Given the description of an element on the screen output the (x, y) to click on. 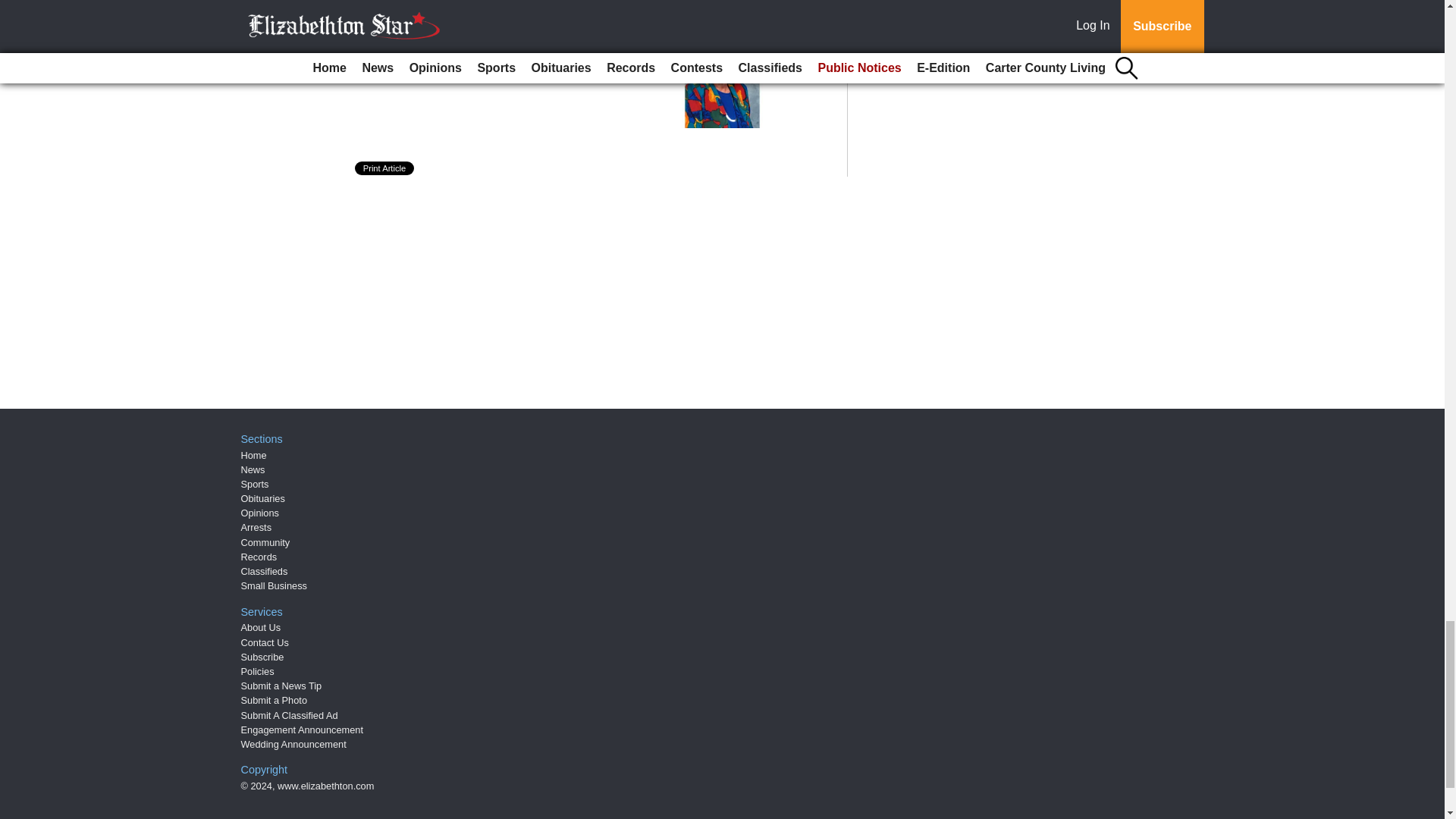
Home (253, 455)
Print Article (384, 168)
